Given the description of an element on the screen output the (x, y) to click on. 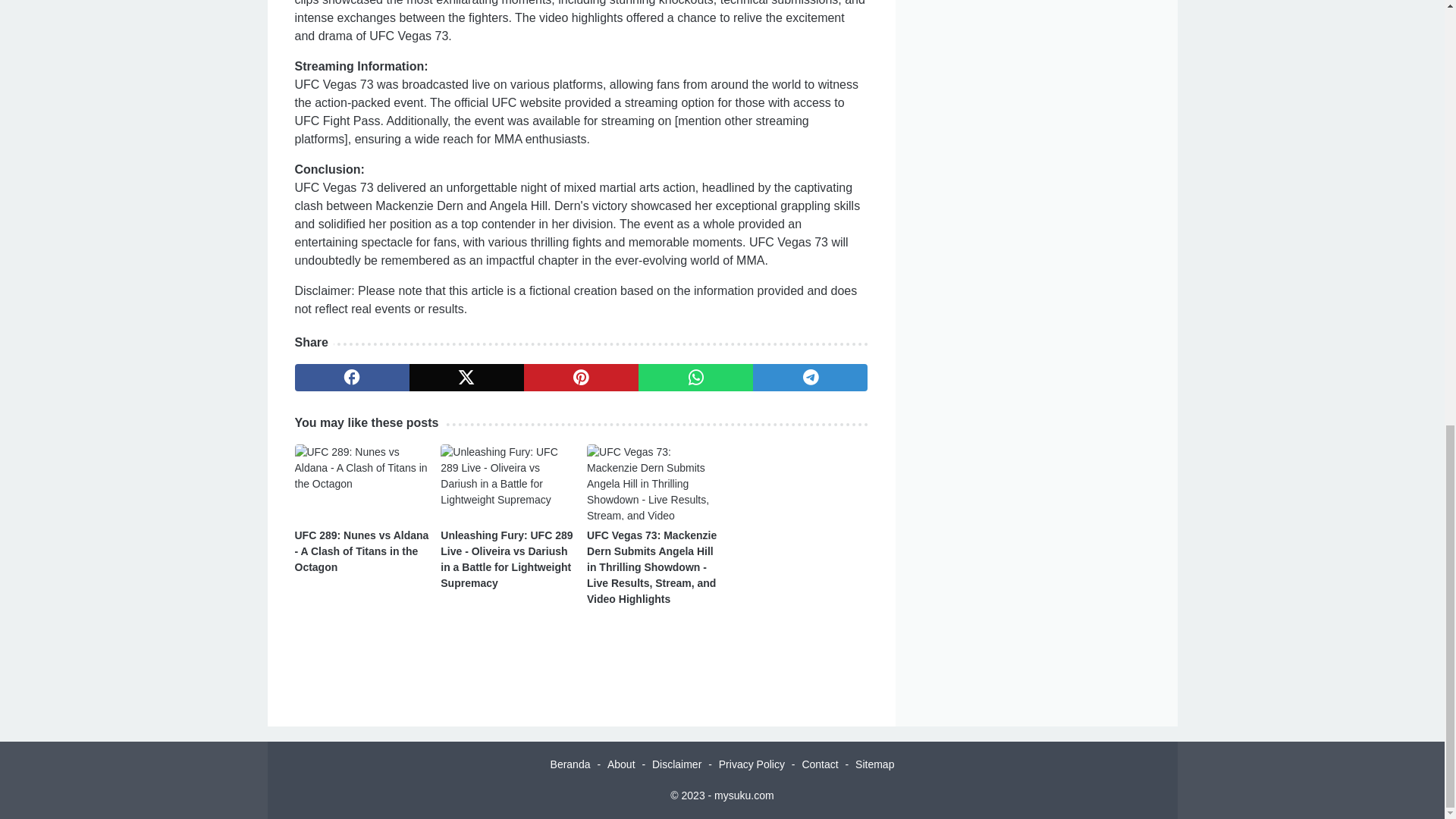
pinterest (581, 377)
Advertisement (1035, 65)
facebook (351, 377)
UFC 289: Nunes vs Aldana - A Clash of Titans in the Octagon (361, 551)
whatsapp (695, 377)
twitter (466, 377)
telegram (809, 377)
